Given the description of an element on the screen output the (x, y) to click on. 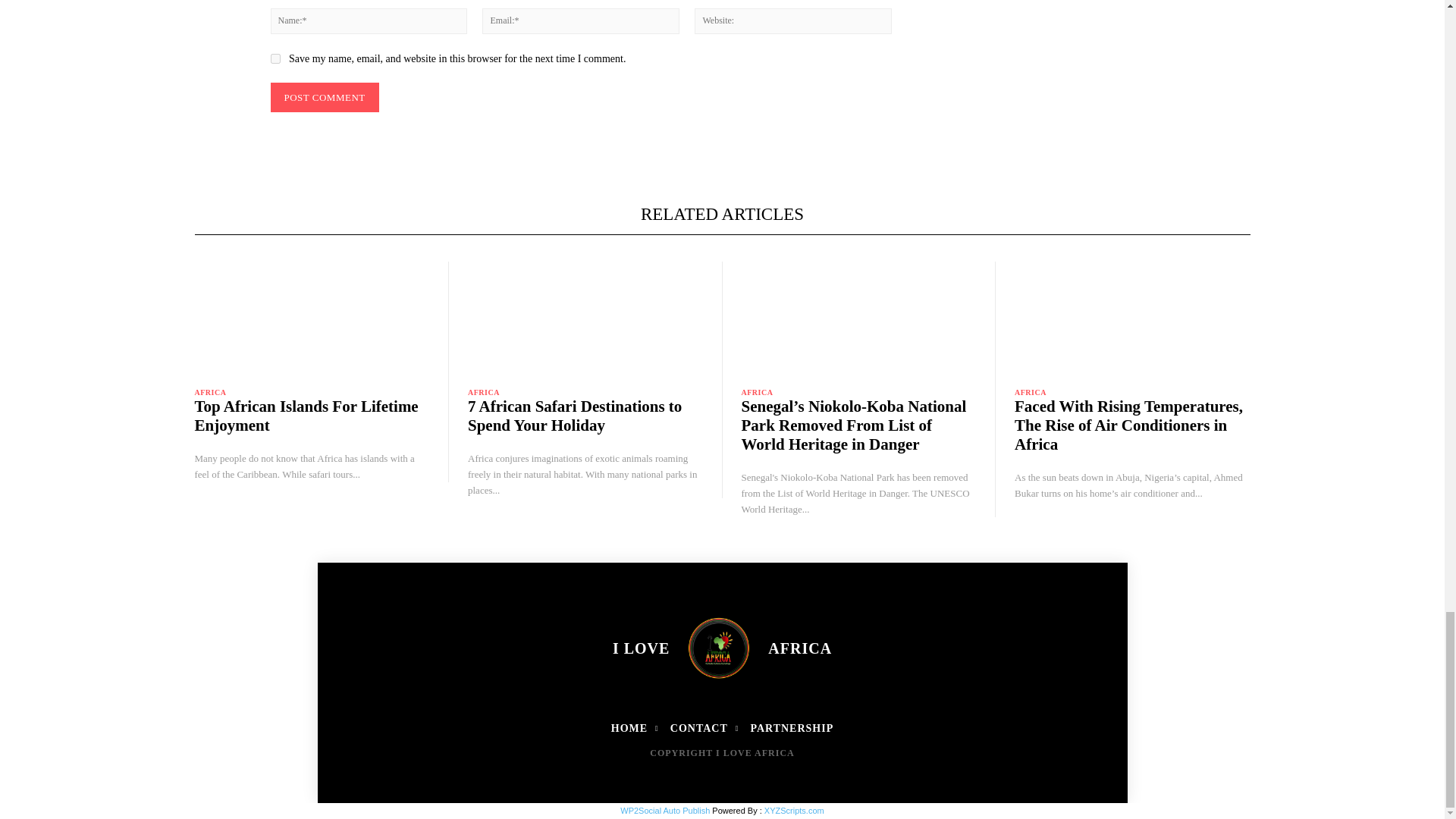
Post Comment (323, 97)
yes (274, 58)
